Given the description of an element on the screen output the (x, y) to click on. 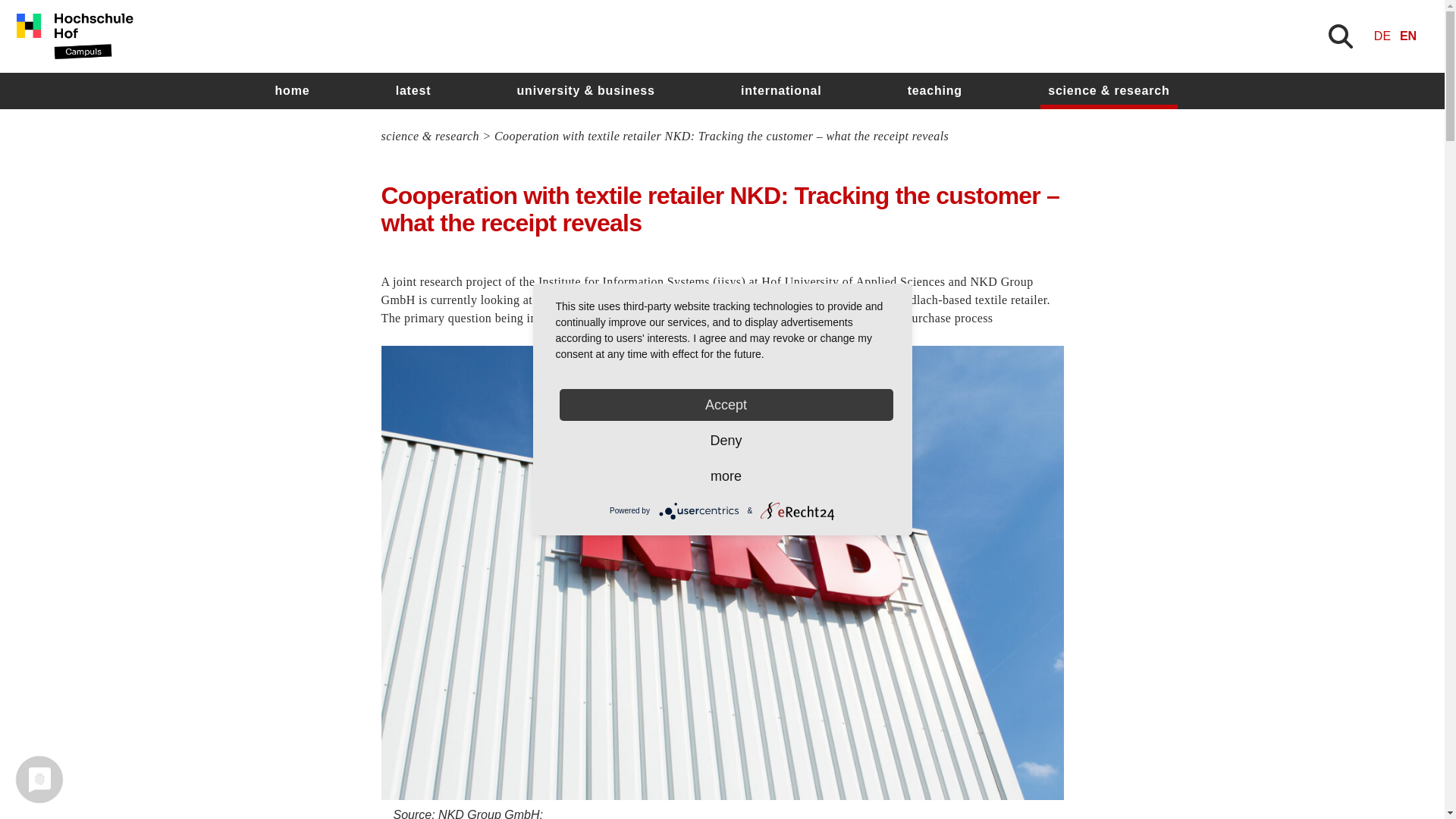
international (780, 90)
latest (413, 90)
teaching (934, 90)
Accept (726, 404)
home (291, 90)
search (908, 457)
Deny (726, 440)
DE (1382, 35)
EN (1407, 35)
